Given the description of an element on the screen output the (x, y) to click on. 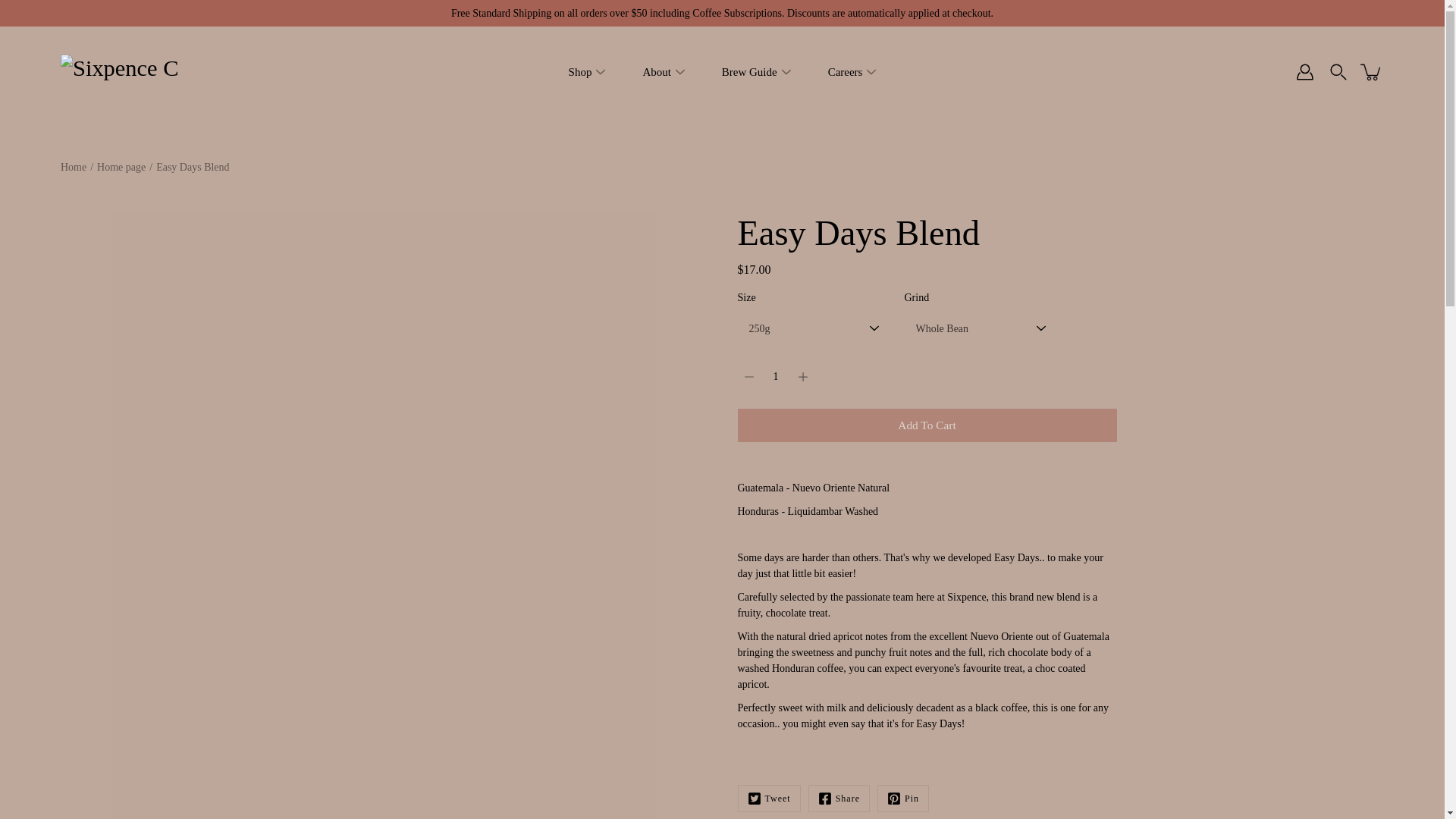
Careers (845, 72)
Shop (580, 72)
About (655, 72)
Facebook (838, 798)
Brew Guide (749, 72)
Twitter (767, 798)
Pinterest (902, 798)
1 (774, 376)
Back to the Homepage (73, 166)
